Given the description of an element on the screen output the (x, y) to click on. 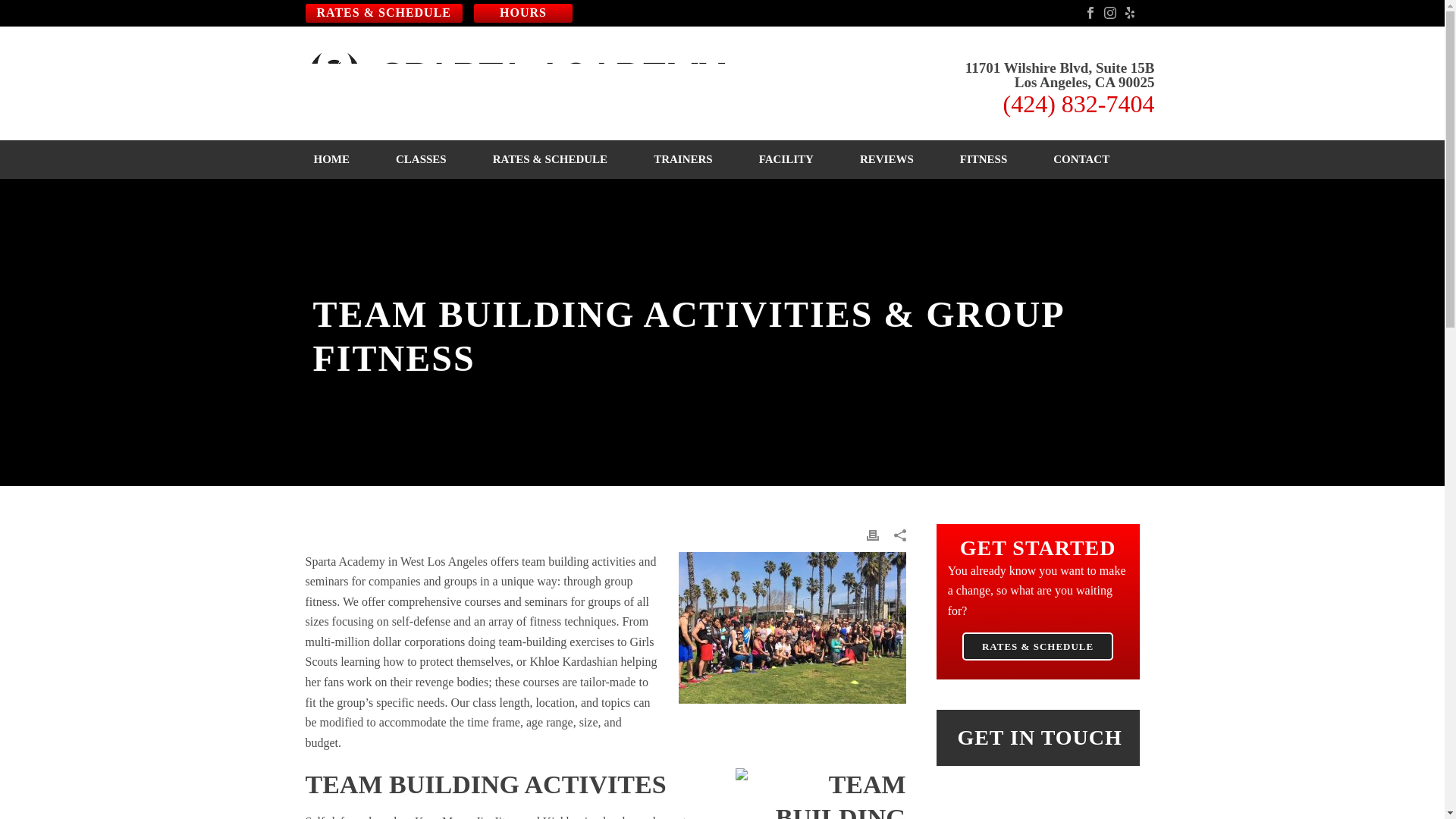
FACILITY (785, 159)
CLASSES (420, 159)
FITNESS (983, 159)
TRAINERS (682, 159)
REVIEWS (886, 159)
HOURS (523, 13)
FACILITY (785, 159)
REVIEWS (886, 159)
CONTACT (1081, 159)
Sparta Academy (522, 83)
FITNESS (983, 159)
HOME (331, 159)
HOME (331, 159)
TRAINERS (682, 159)
CLASSES (420, 159)
